Given the description of an element on the screen output the (x, y) to click on. 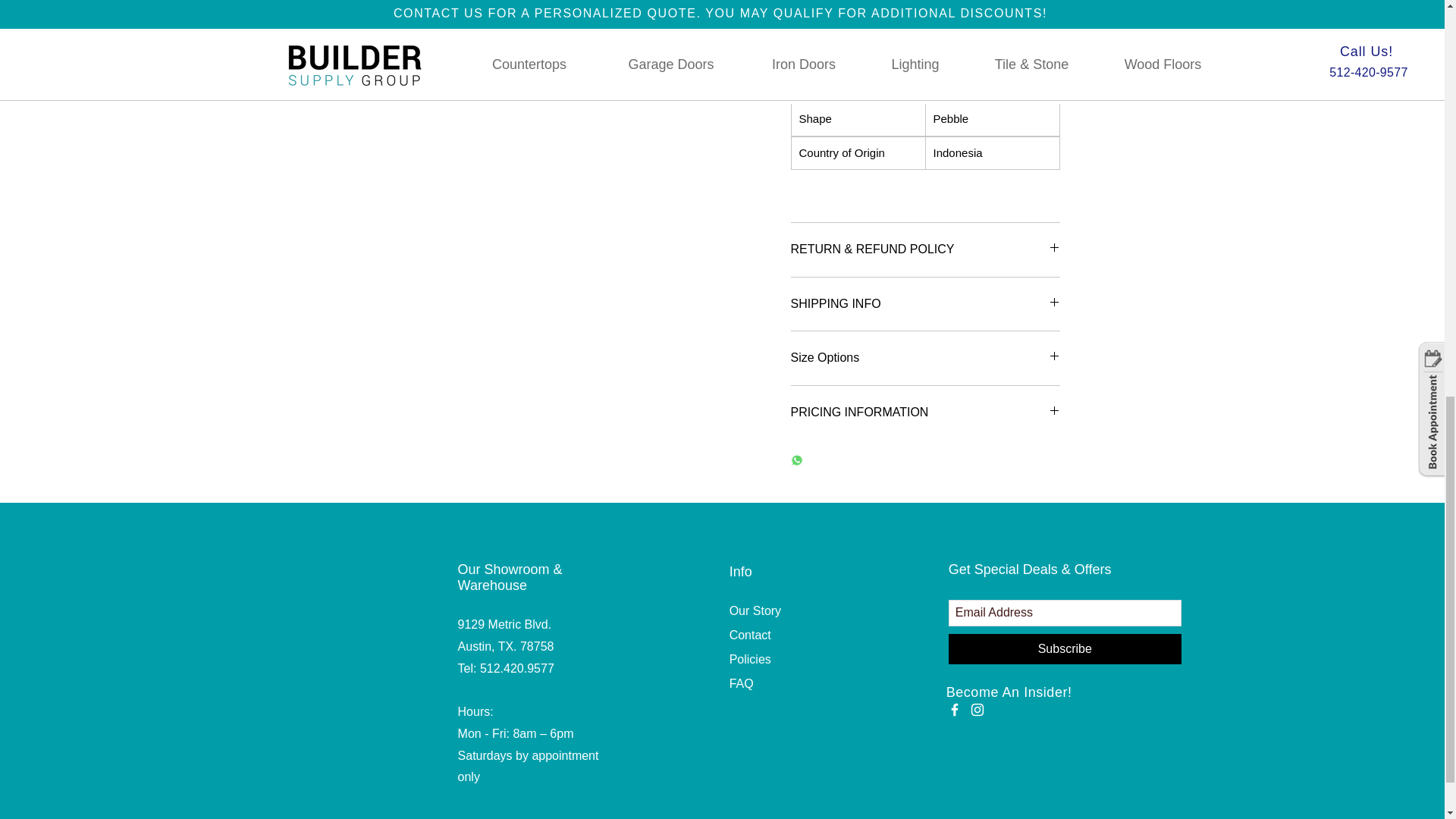
Subscribe (1064, 648)
Size Options (924, 357)
SHIPPING INFO (924, 303)
PRICING INFORMATION (924, 412)
Contact (750, 634)
Our Story (754, 610)
